Given the description of an element on the screen output the (x, y) to click on. 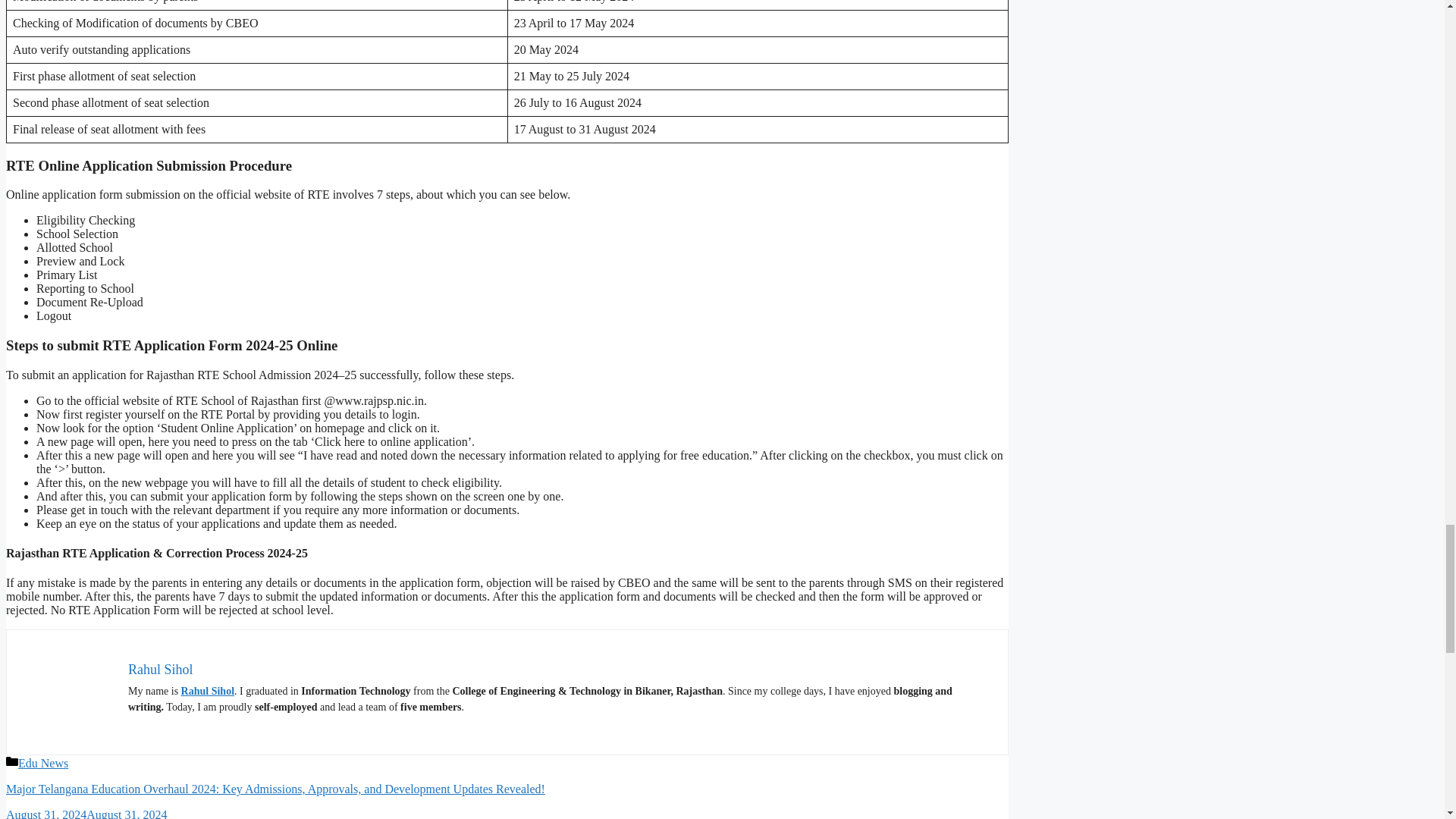
Rahul Sihol (207, 690)
1:06 pm (86, 813)
Rahul Sihol (160, 669)
Edu News (42, 762)
August 31, 2024August 31, 2024 (86, 813)
